Given the description of an element on the screen output the (x, y) to click on. 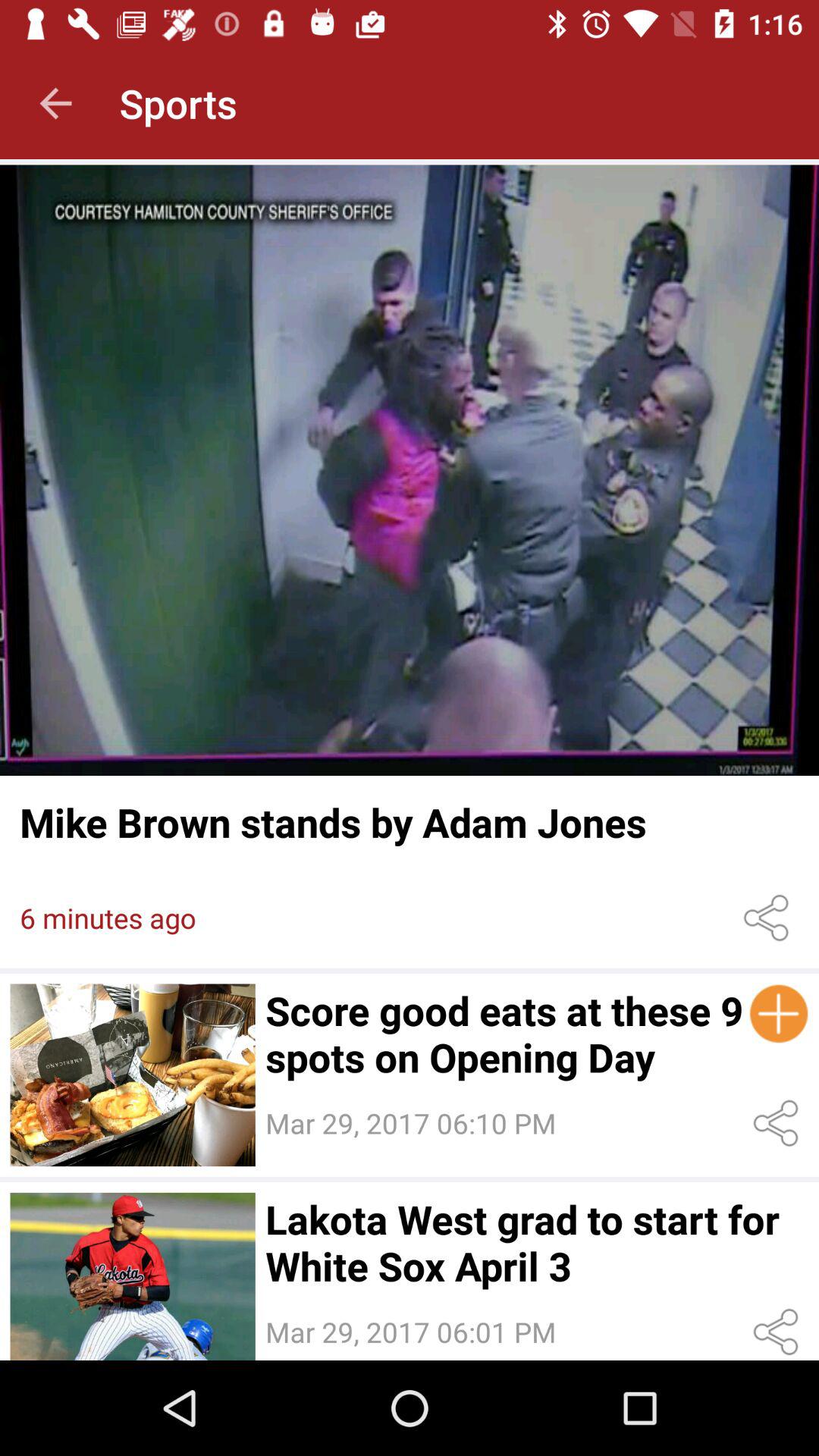
share (769, 918)
